Given the description of an element on the screen output the (x, y) to click on. 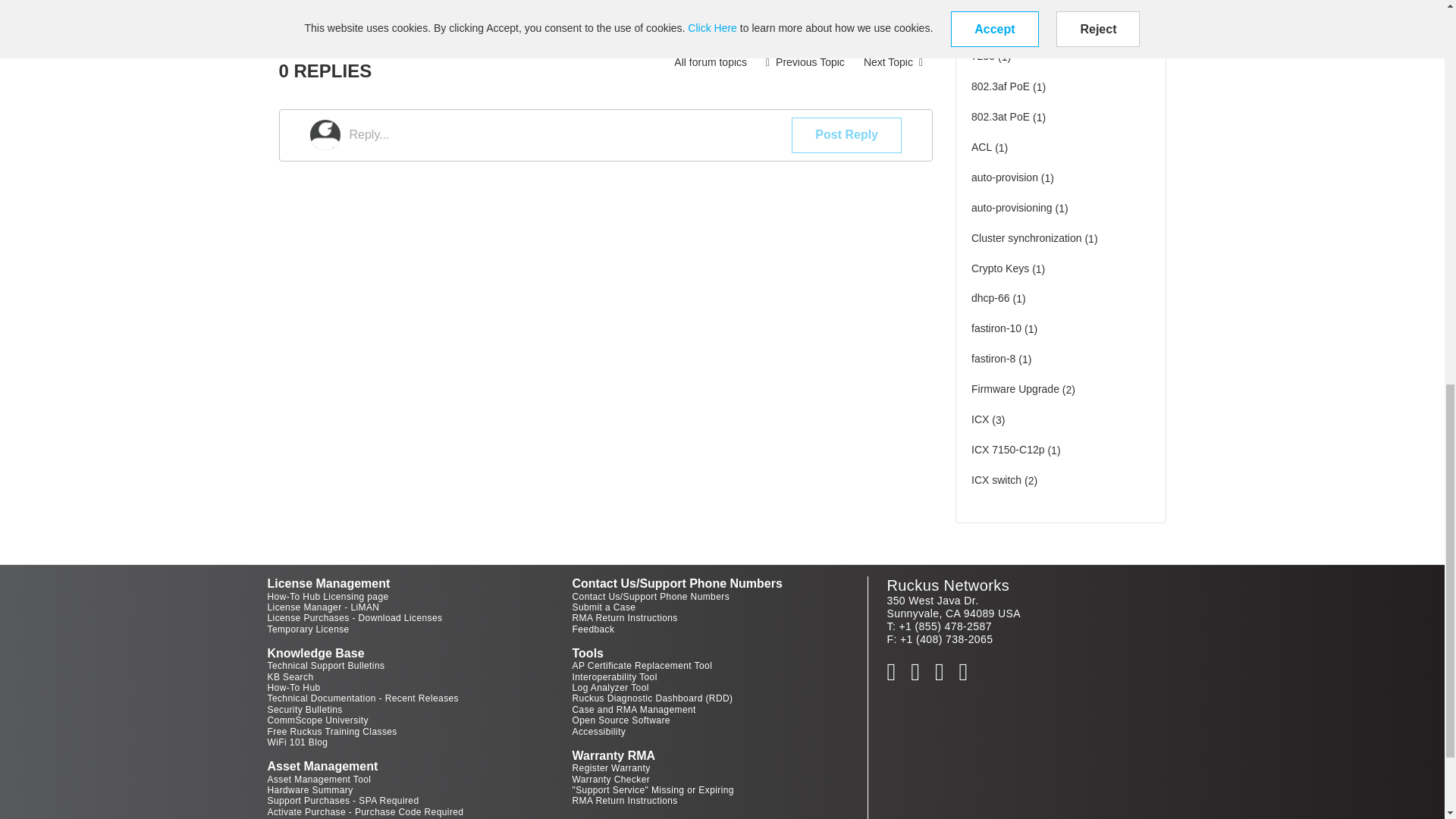
ICX Switches (710, 61)
ICX7450-48P-E (893, 61)
US Export Controls for ICX 6450 Switch (804, 61)
